Given the description of an element on the screen output the (x, y) to click on. 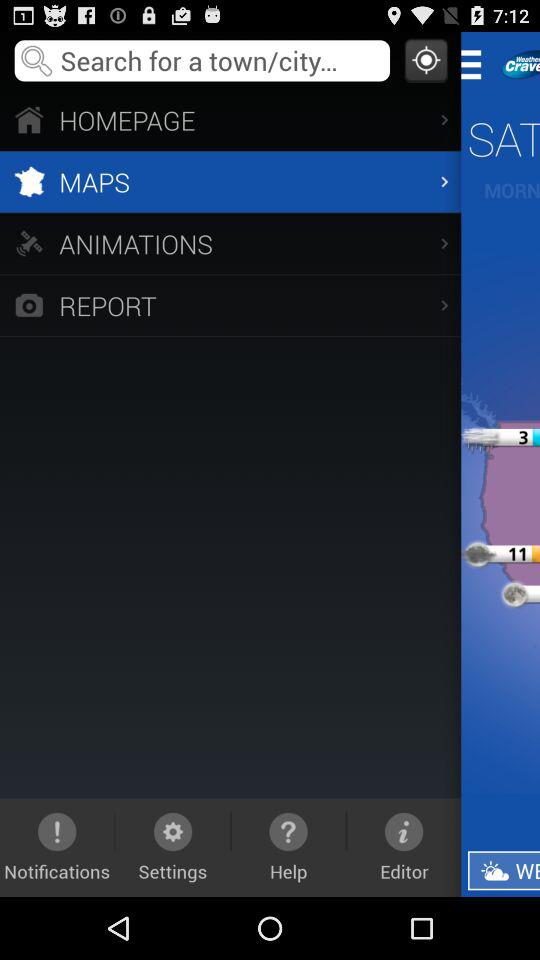
toggle location (426, 60)
